Given the description of an element on the screen output the (x, y) to click on. 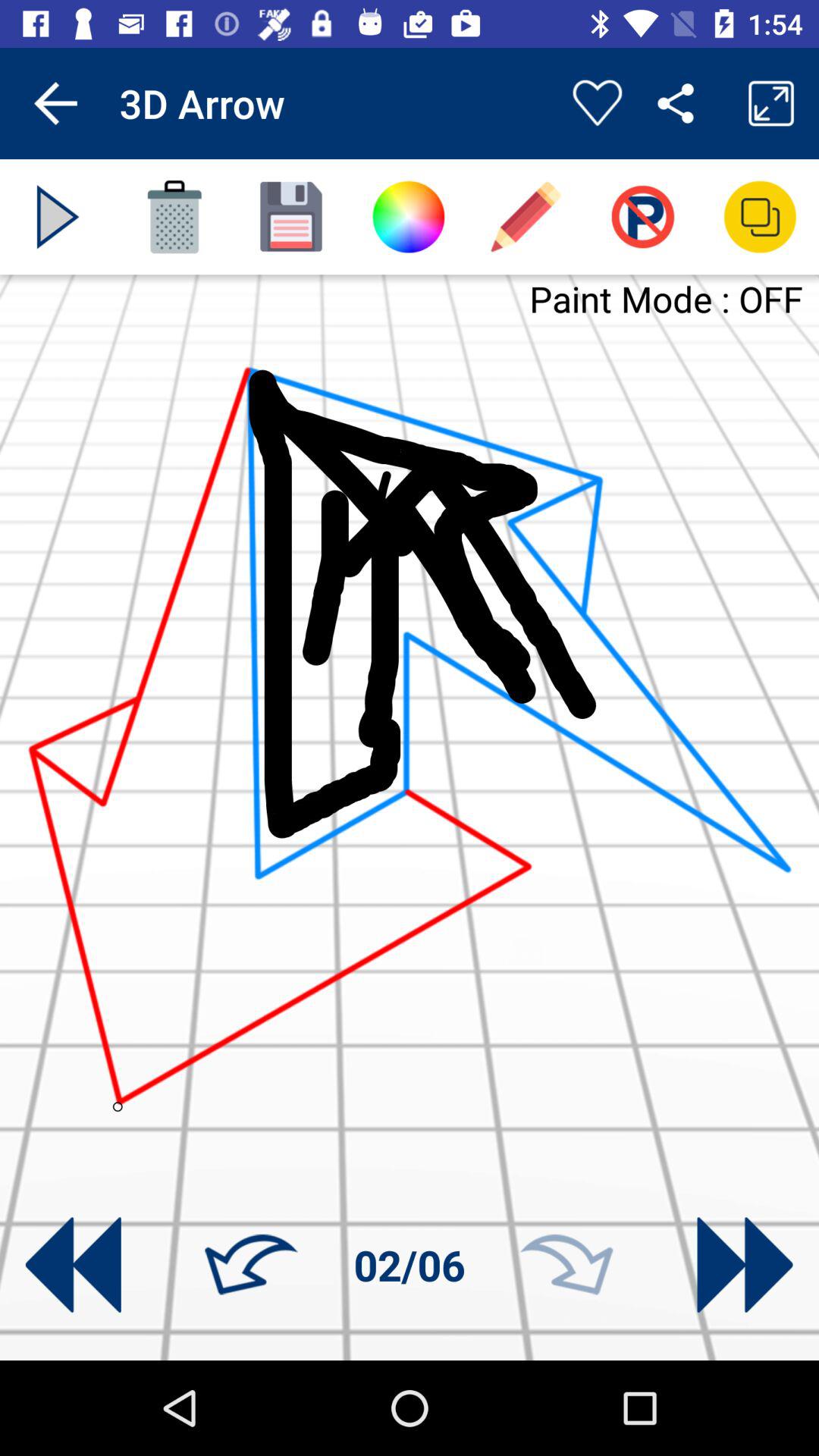
go to previous picture (73, 1264)
